Given the description of an element on the screen output the (x, y) to click on. 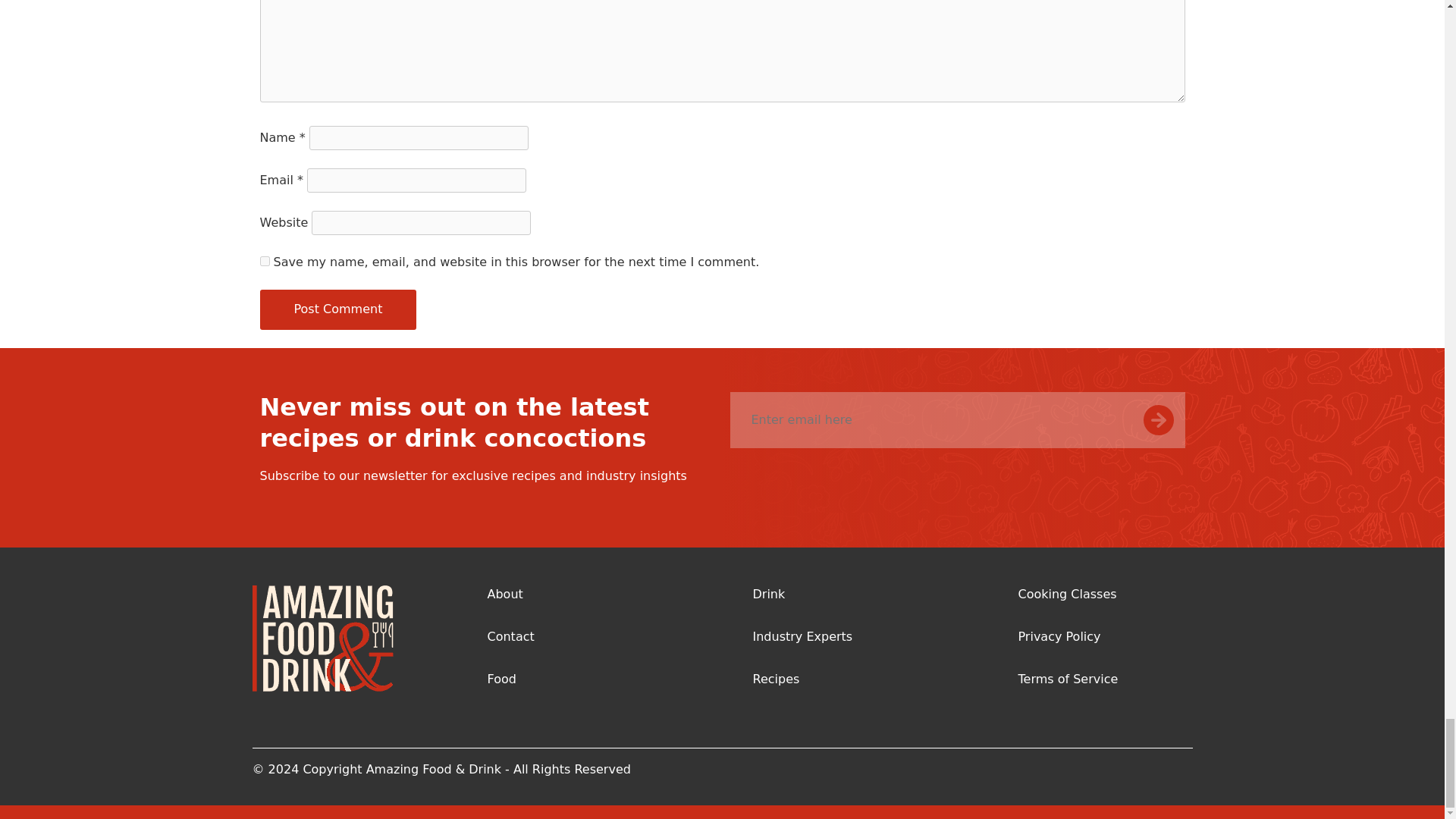
yes (264, 261)
Post Comment (337, 309)
Subscribe (1172, 419)
